Given the description of an element on the screen output the (x, y) to click on. 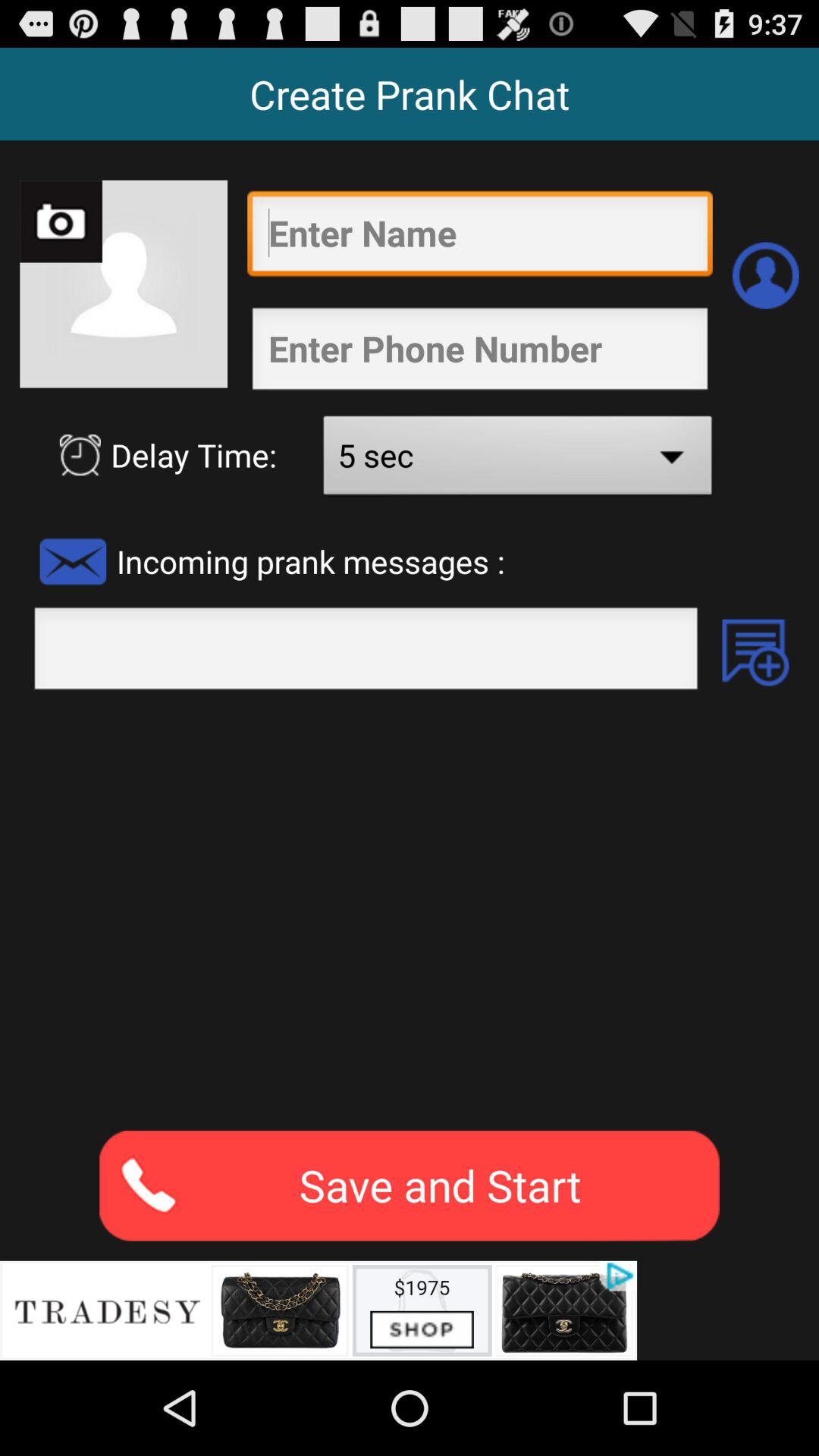
advertisement (318, 1310)
